Given the description of an element on the screen output the (x, y) to click on. 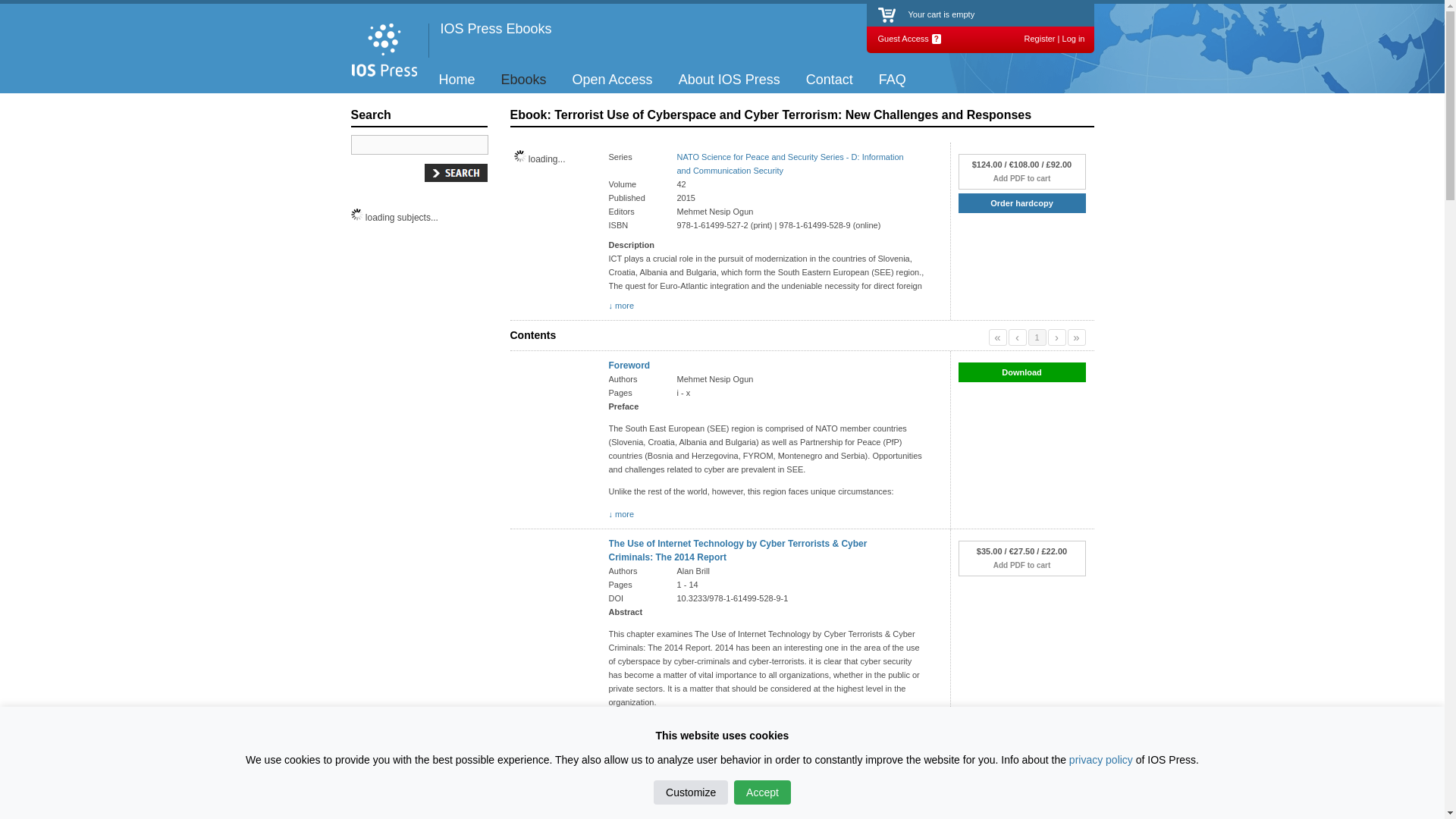
FAQ (892, 79)
Your cart is empty (941, 13)
Open Access (613, 79)
Log in (1073, 38)
Order hardcopy (1021, 203)
SideSearch (456, 172)
Home (457, 79)
Contact (830, 79)
Steganography in Support of the Global Terrorism (716, 739)
